Given the description of an element on the screen output the (x, y) to click on. 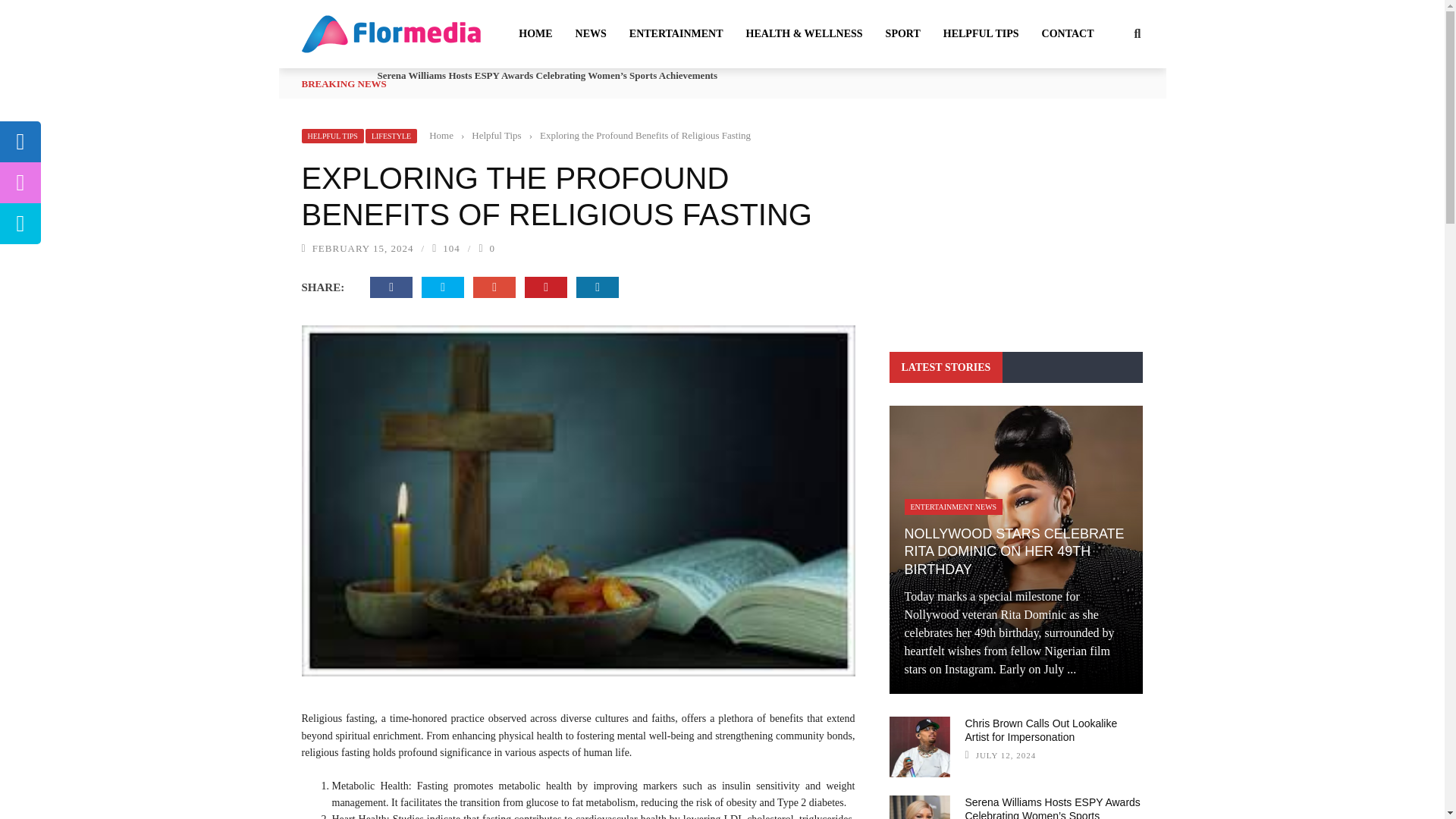
Twitter (443, 287)
Home (440, 134)
NEWS (590, 33)
LIFESTYLE (390, 135)
Google Plus (494, 287)
Facebook (390, 287)
Helpful Tips (496, 134)
SPORT (903, 33)
Pinterest (545, 287)
CONTACT (1067, 33)
HOME (534, 33)
Linkedin (597, 287)
HELPFUL TIPS (332, 135)
HELPFUL TIPS (980, 33)
ENTERTAINMENT (676, 33)
